Given the description of an element on the screen output the (x, y) to click on. 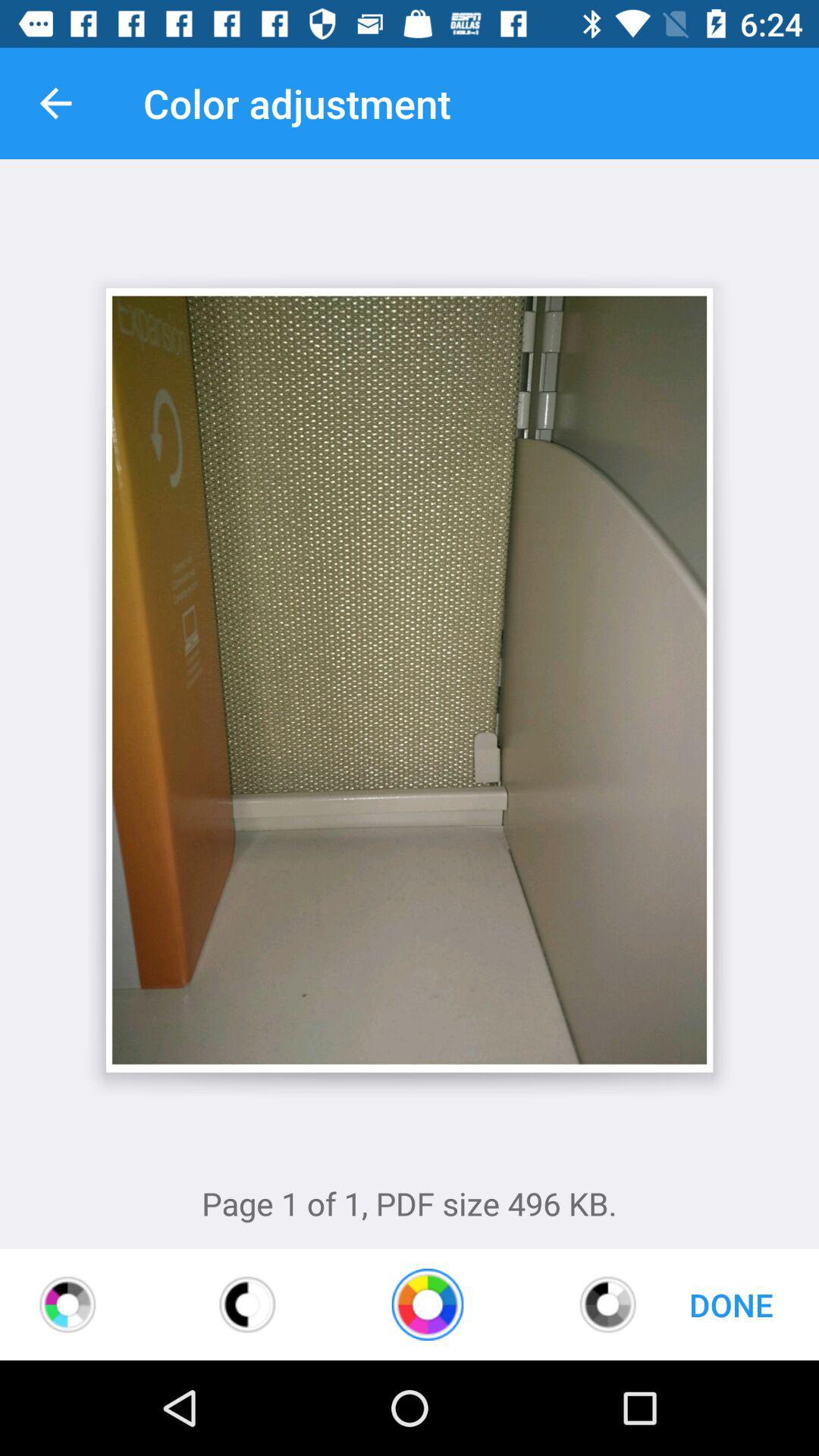
choose item to the left of color adjustment (55, 103)
